Given the description of an element on the screen output the (x, y) to click on. 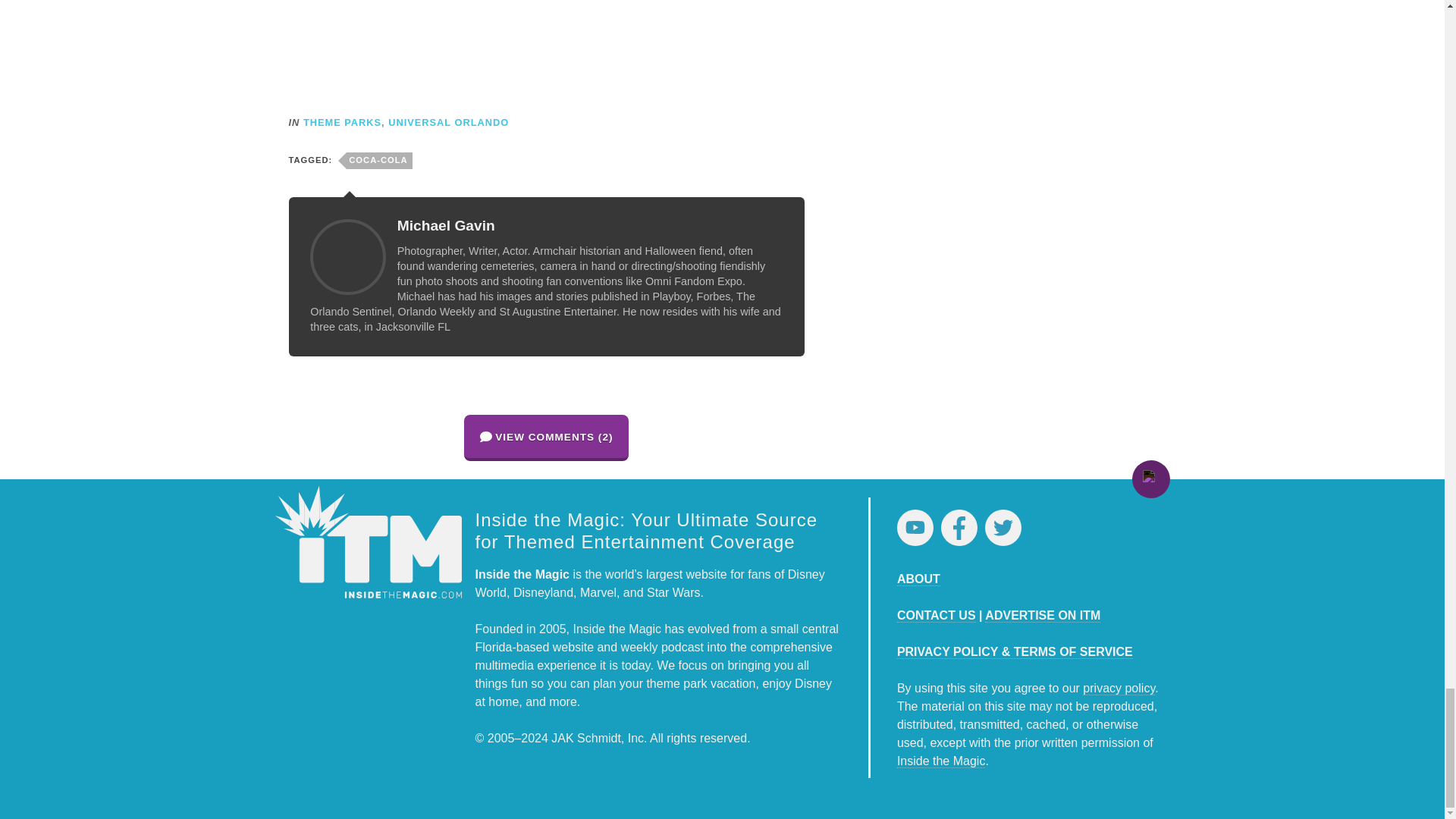
Return to Top (1150, 478)
